Given the description of an element on the screen output the (x, y) to click on. 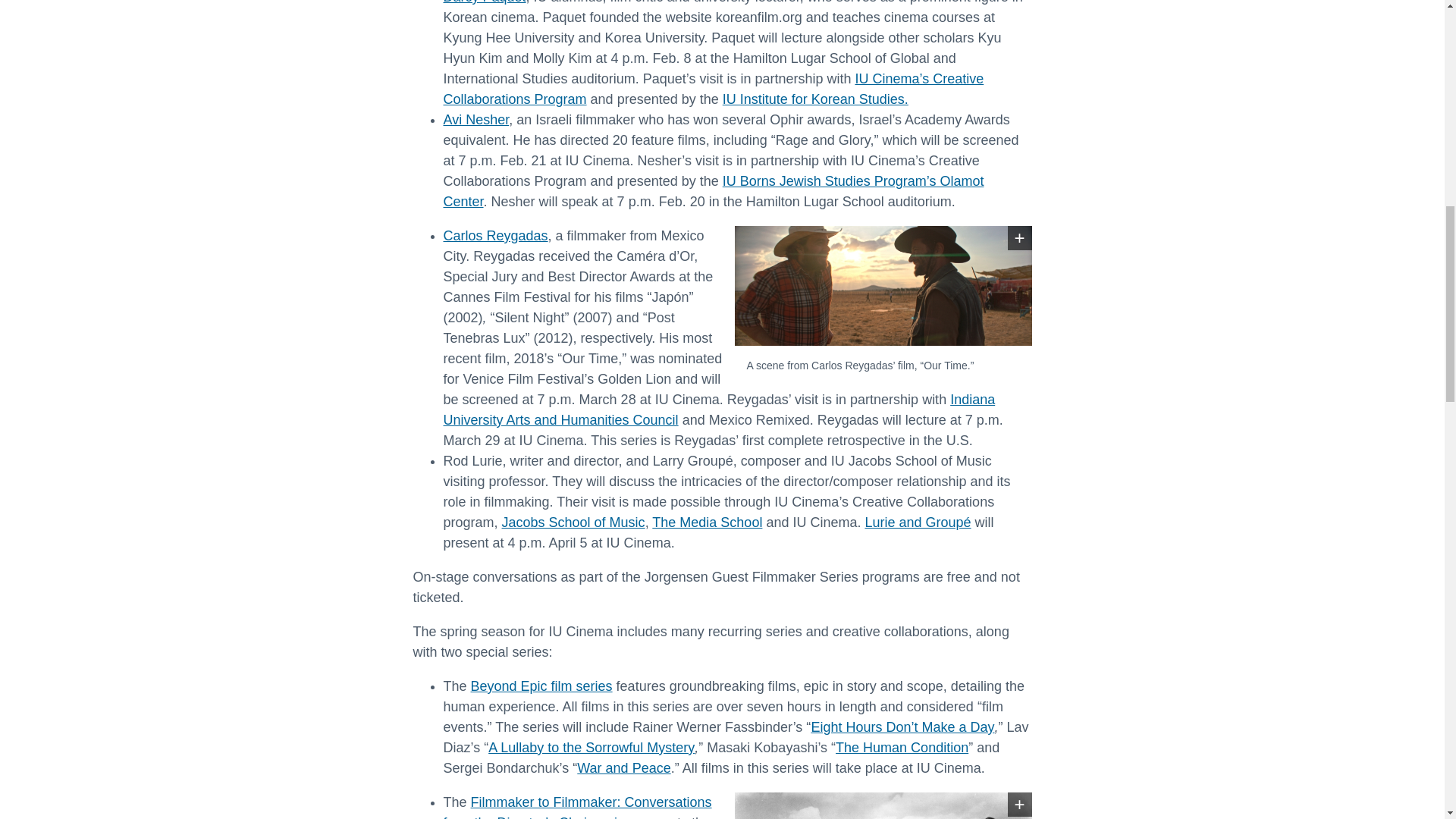
Indiana University Arts and Humanities Council (718, 409)
IU Institute for Korean Studies. (815, 99)
Click to view the print quality image (1018, 238)
A Lullaby to the Sorrowful Mystery (590, 747)
Jacobs School of Music (573, 522)
Beyond Epic film series (541, 685)
The Media School (706, 522)
View print quality image (1018, 804)
War and Peace (622, 767)
Darcy Paquet (483, 2)
